Given the description of an element on the screen output the (x, y) to click on. 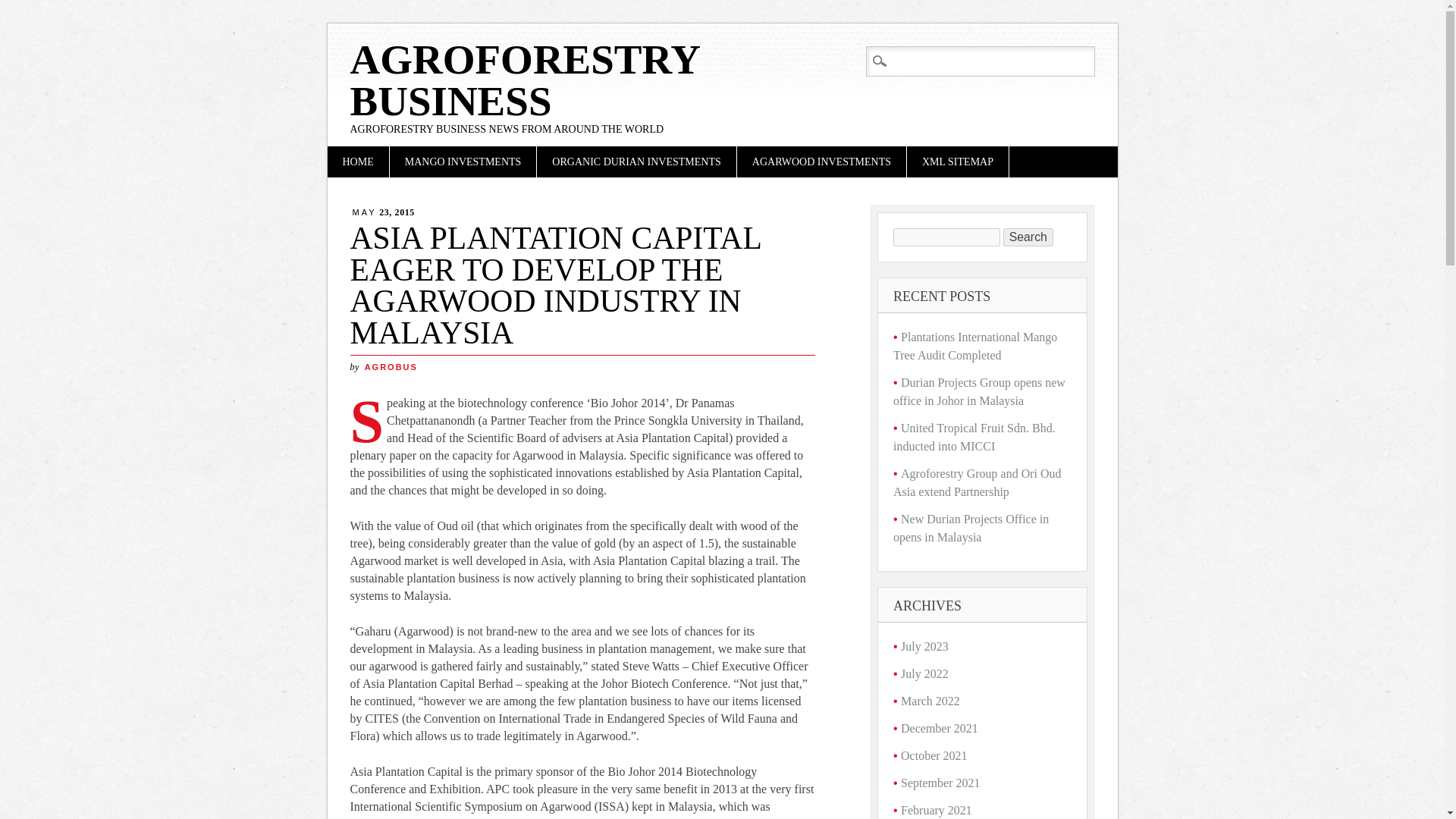
Search (1027, 237)
XML SITEMAP (958, 161)
July 2022 (925, 673)
Agroforestry Group and Ori Oud Asia extend Partnership (977, 481)
United Tropical Fruit Sdn. Bhd. inducted into MICCI (974, 436)
AGARWOOD INVESTMENTS (820, 161)
Search (24, 9)
MAY 23, 2015 (383, 212)
July 2023 (925, 645)
HOME (357, 161)
Agroforestry Business (525, 80)
New Durian Projects Office in opens in Malaysia (970, 527)
Plantations International Mango Tree Audit Completed (975, 345)
Durian Projects Group opens new office in Johor in Malaysia (979, 391)
MANGO INVESTMENTS (463, 161)
